Given the description of an element on the screen output the (x, y) to click on. 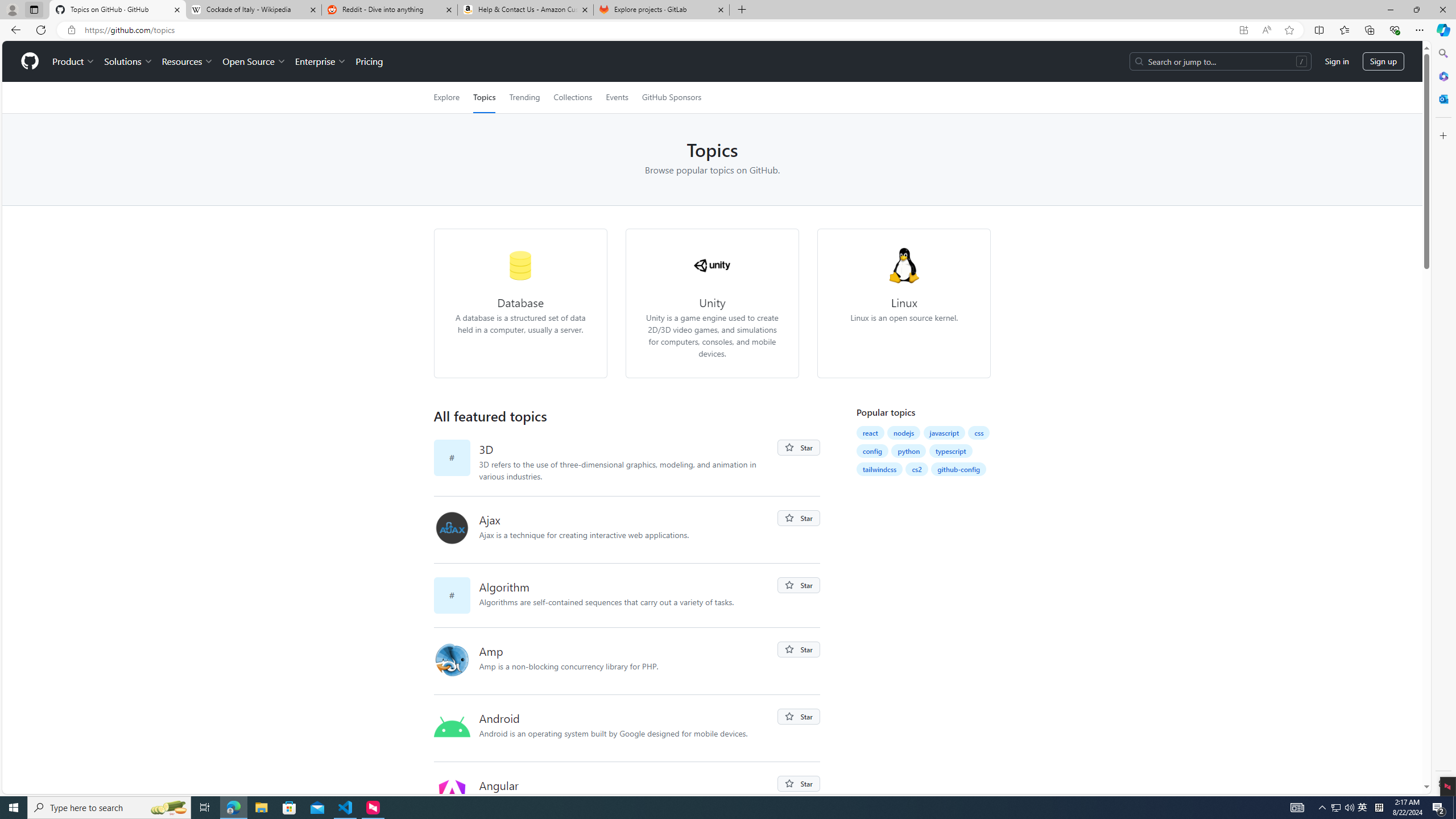
github-config (958, 469)
GitHub Sponsors (671, 97)
Pricing (368, 60)
angular (456, 794)
ajax (451, 528)
linux (904, 265)
Events (616, 97)
cs2 (916, 469)
Resources (187, 60)
